Given the description of an element on the screen output the (x, y) to click on. 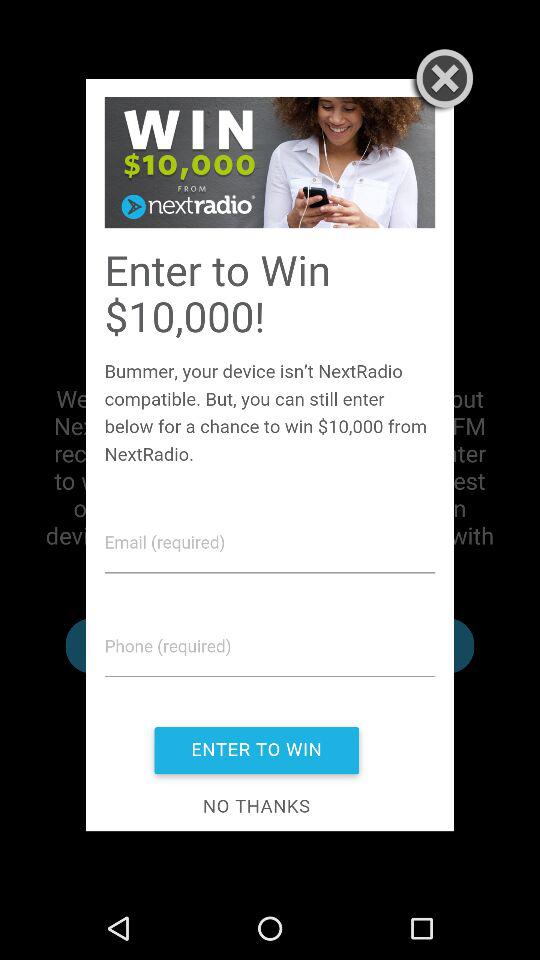
select advertisement (269, 454)
